Given the description of an element on the screen output the (x, y) to click on. 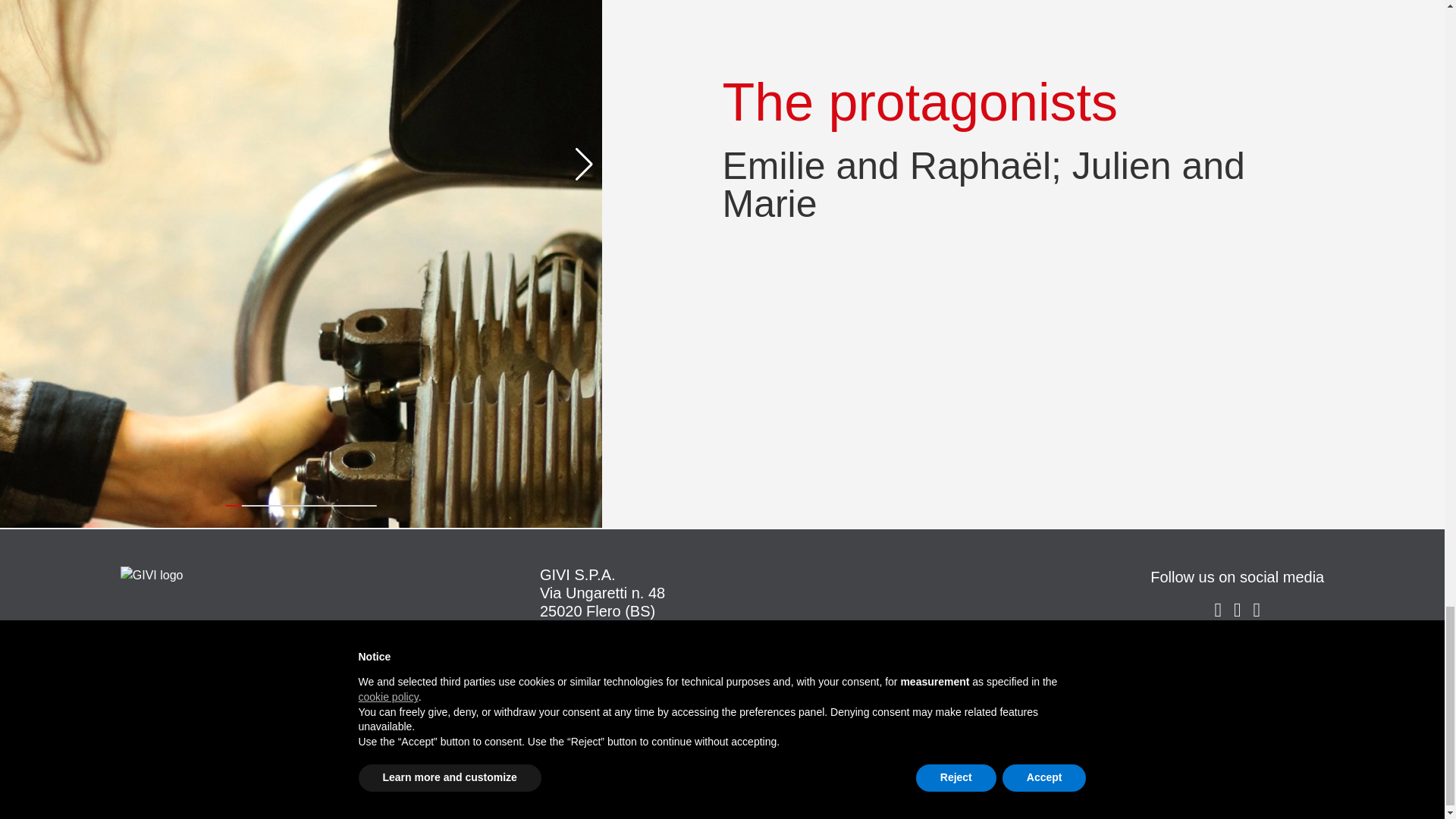
Privacy policy (1237, 684)
Cookie policy (1236, 653)
